Given the description of an element on the screen output the (x, y) to click on. 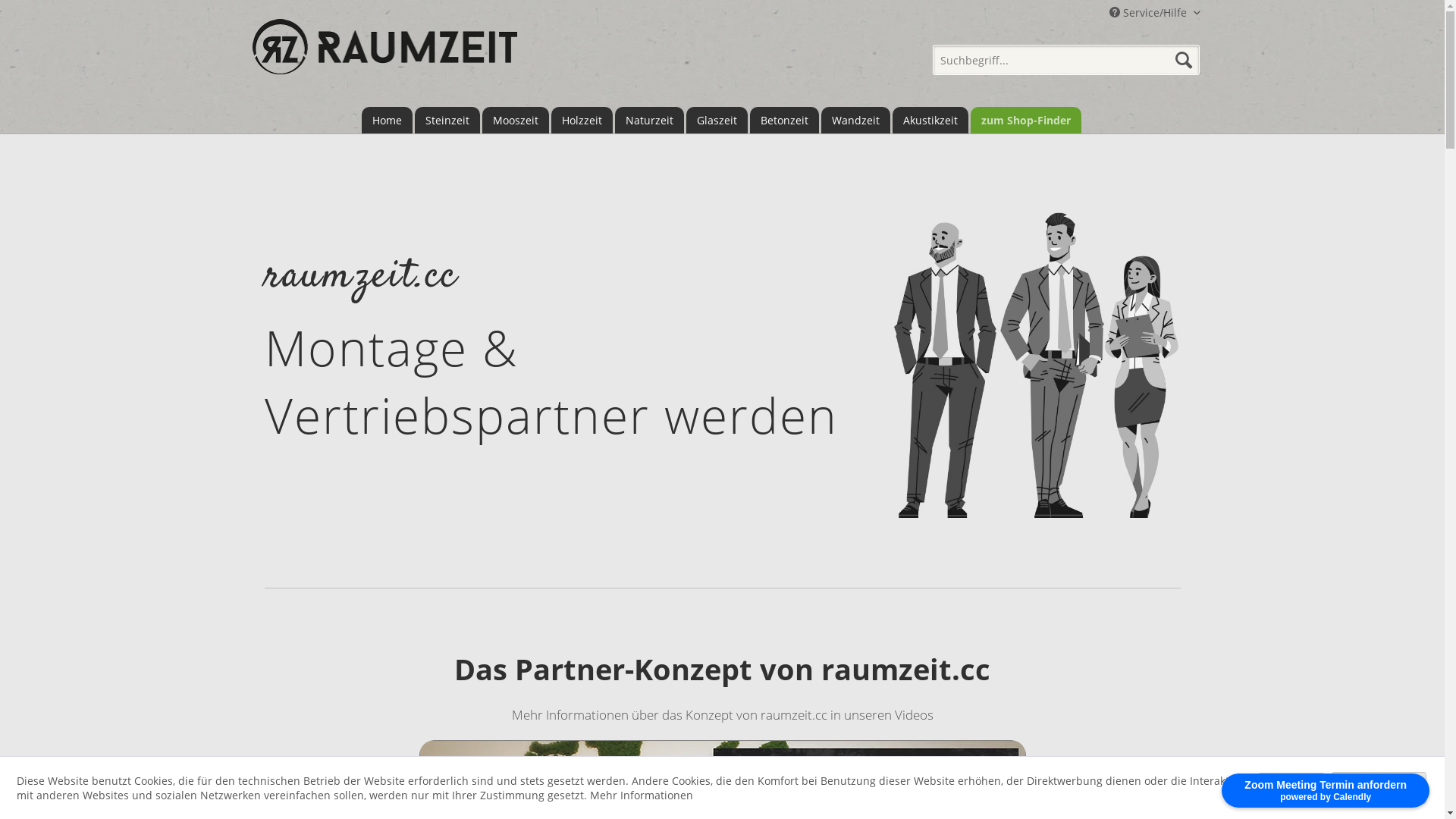
Akustikzeit Element type: text (929, 119)
Holzzeit Element type: text (580, 119)
Home Element type: text (385, 119)
Mooszeit Element type: text (515, 119)
Einverstanden Element type: text (1378, 787)
Betonzeit Element type: text (783, 119)
Wandzeit Element type: text (854, 119)
Mehr Informationen Element type: text (641, 794)
raumzeit.cc - zur Startseite wechseln Element type: hover (384, 54)
Ablehnen Element type: text (1291, 788)
Naturzeit Element type: text (648, 119)
zum Shop-Finder Element type: text (1025, 119)
Steinzeit Element type: text (446, 119)
Glaszeit Element type: text (715, 119)
